Given the description of an element on the screen output the (x, y) to click on. 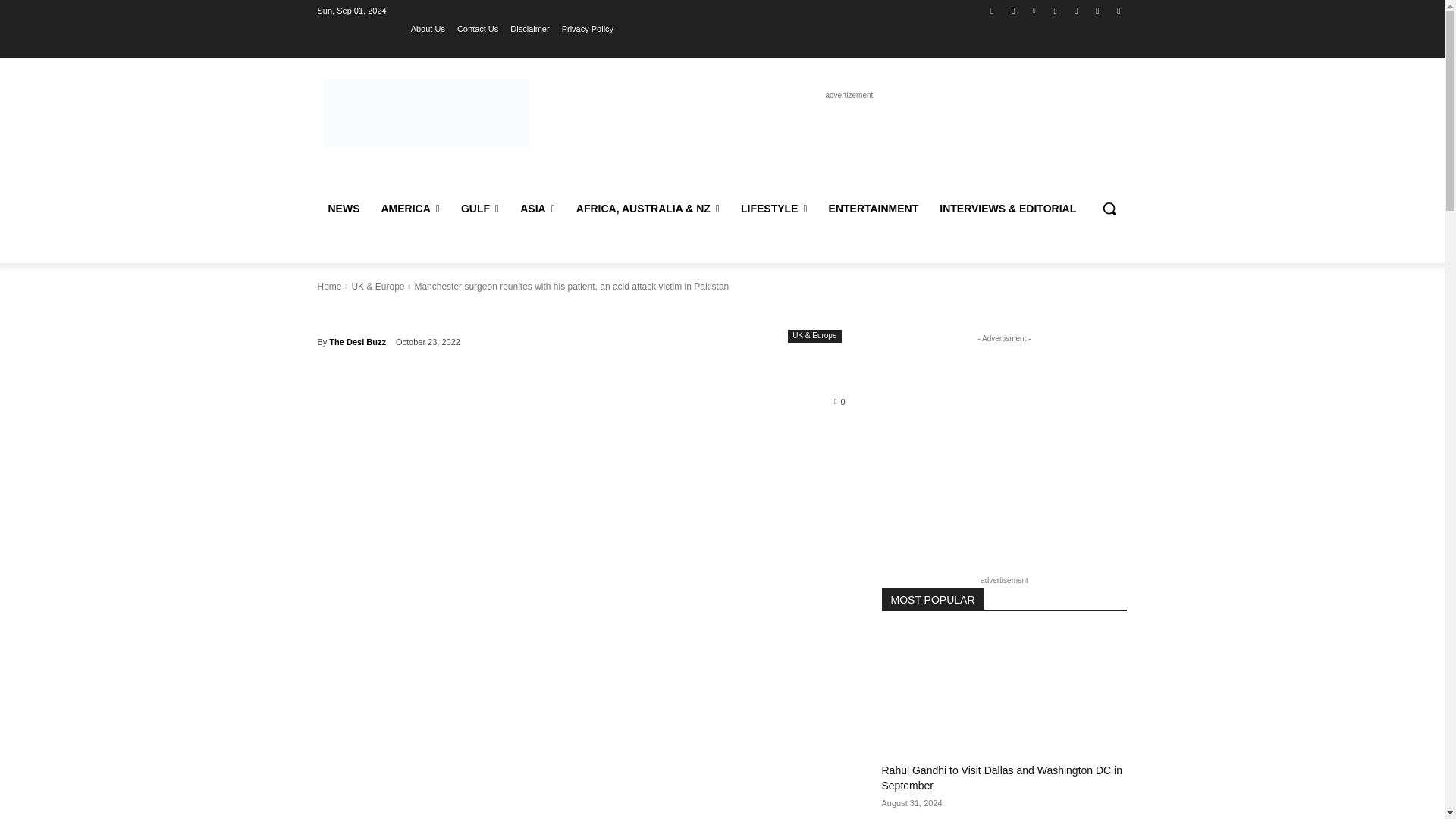
Linkedin (1034, 9)
Privacy Policy (587, 28)
Disclaimer (529, 28)
About Us (427, 28)
Contact Us (477, 28)
Mail (1055, 9)
Facebook (992, 9)
Twitter (1075, 9)
WhatsApp (1097, 9)
Instagram (1013, 9)
